Given the description of an element on the screen output the (x, y) to click on. 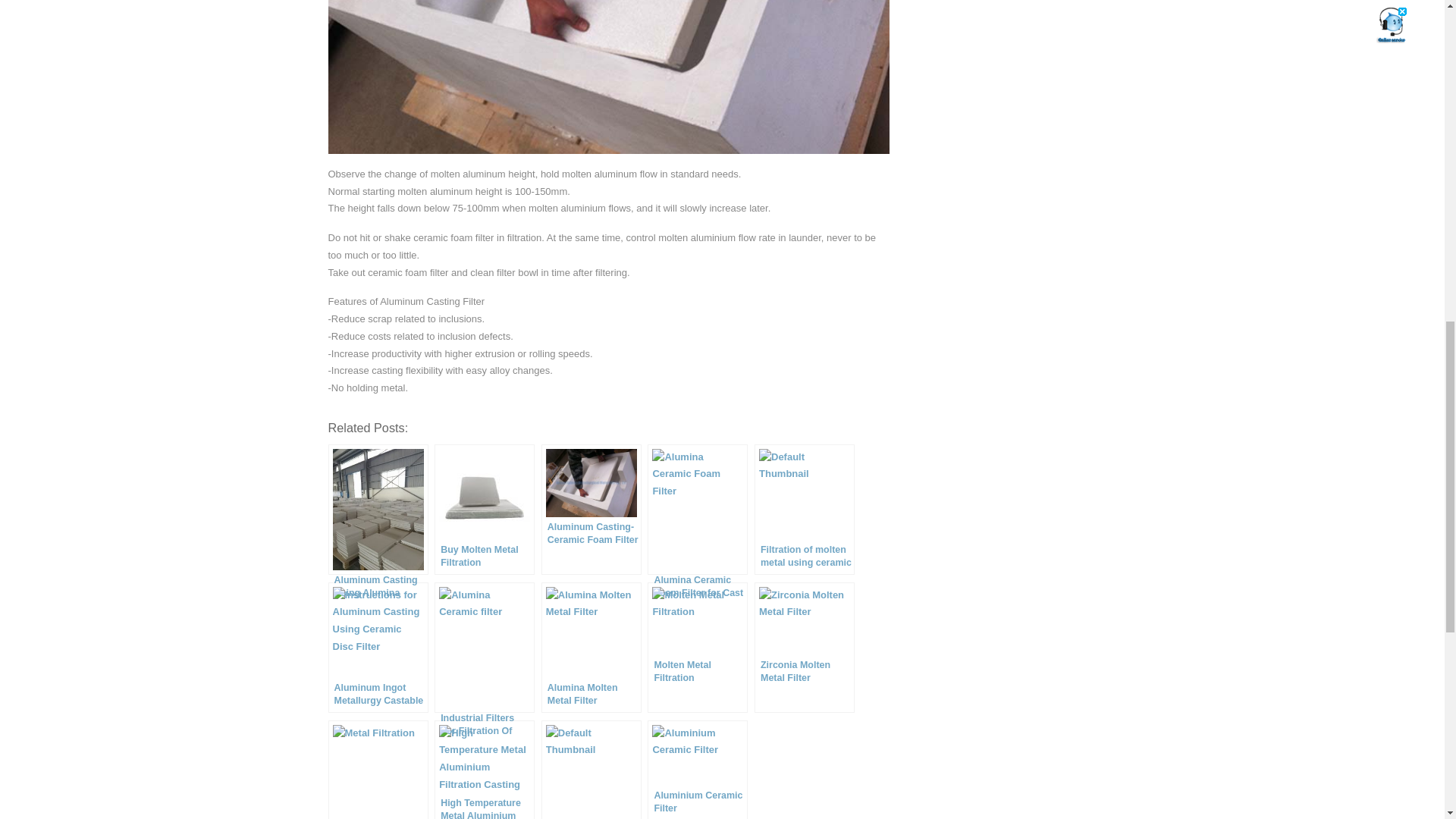
Metal Filtration (377, 769)
Aluminium Ceramic Filter (697, 769)
High Temperature Metal Aluminium Filtration Casting Filter (483, 769)
Molten Metal Cleanliness When Casting Aluminium (591, 769)
